Given the description of an element on the screen output the (x, y) to click on. 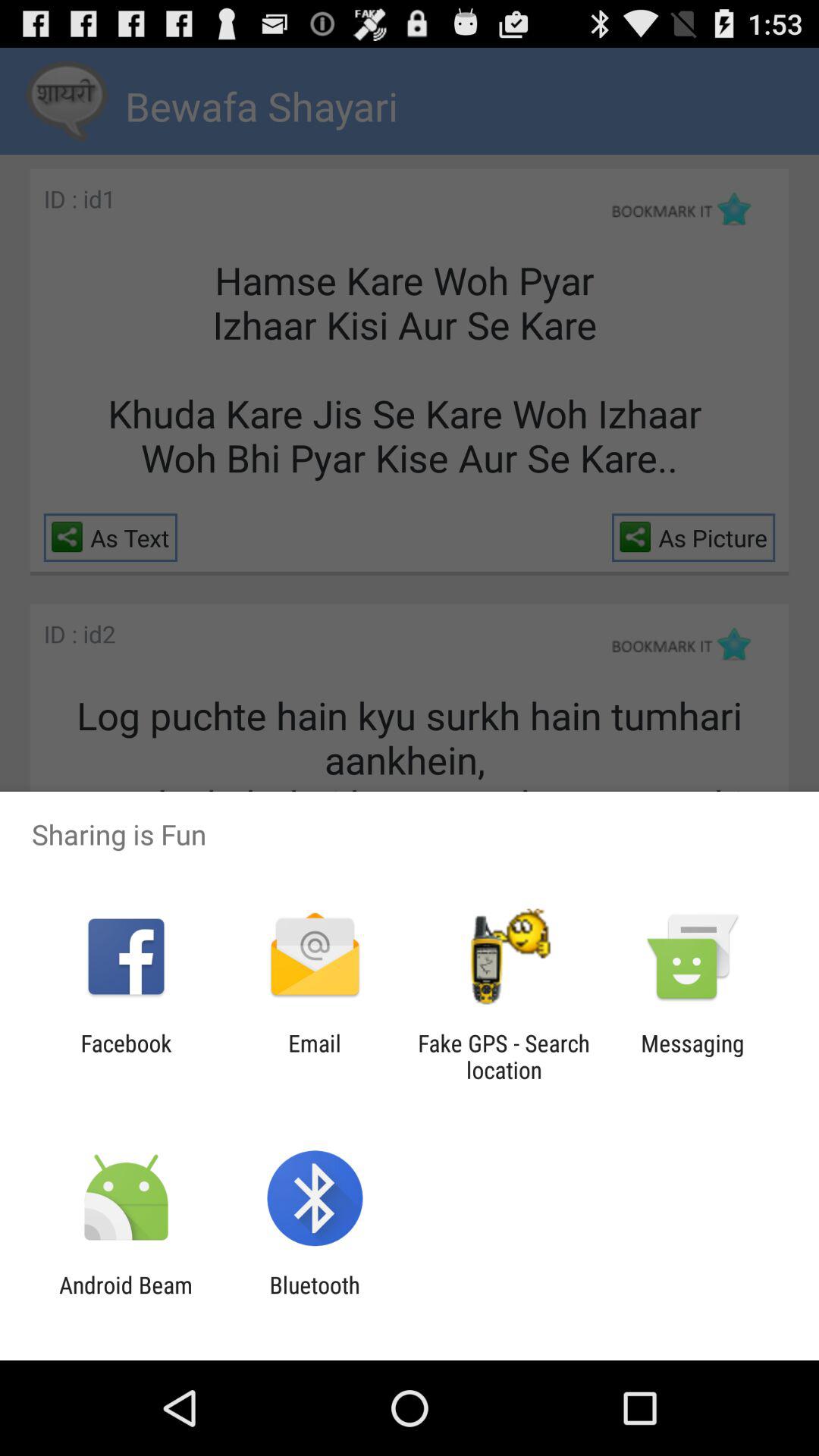
swipe to android beam icon (125, 1298)
